Given the description of an element on the screen output the (x, y) to click on. 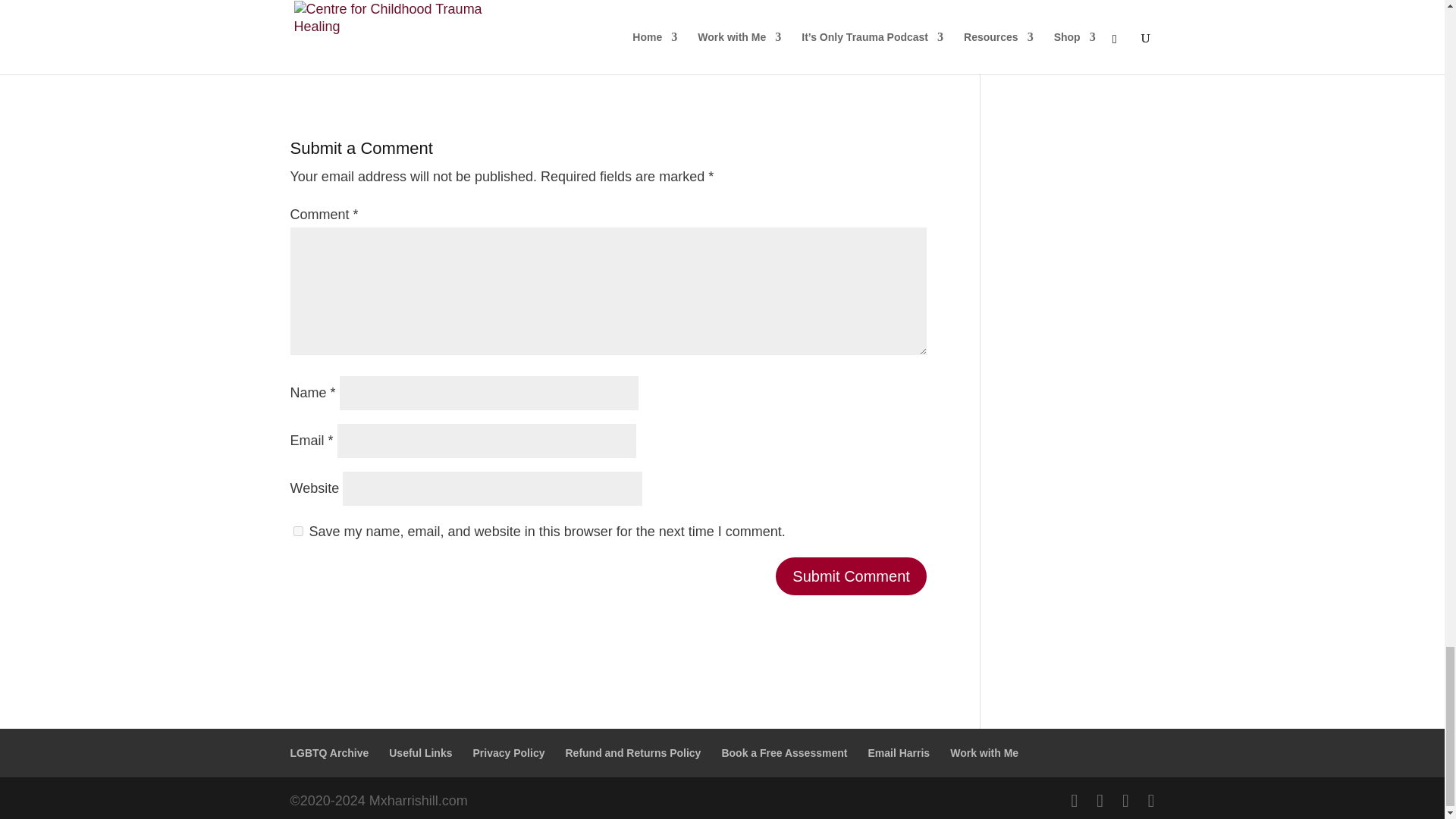
Submit Comment (851, 576)
yes (297, 531)
Useful Links (419, 752)
LGBTQ Archive (328, 752)
Privacy Policy (508, 752)
Submit Comment (851, 576)
Refund and Returns Policy (632, 752)
